Given the description of an element on the screen output the (x, y) to click on. 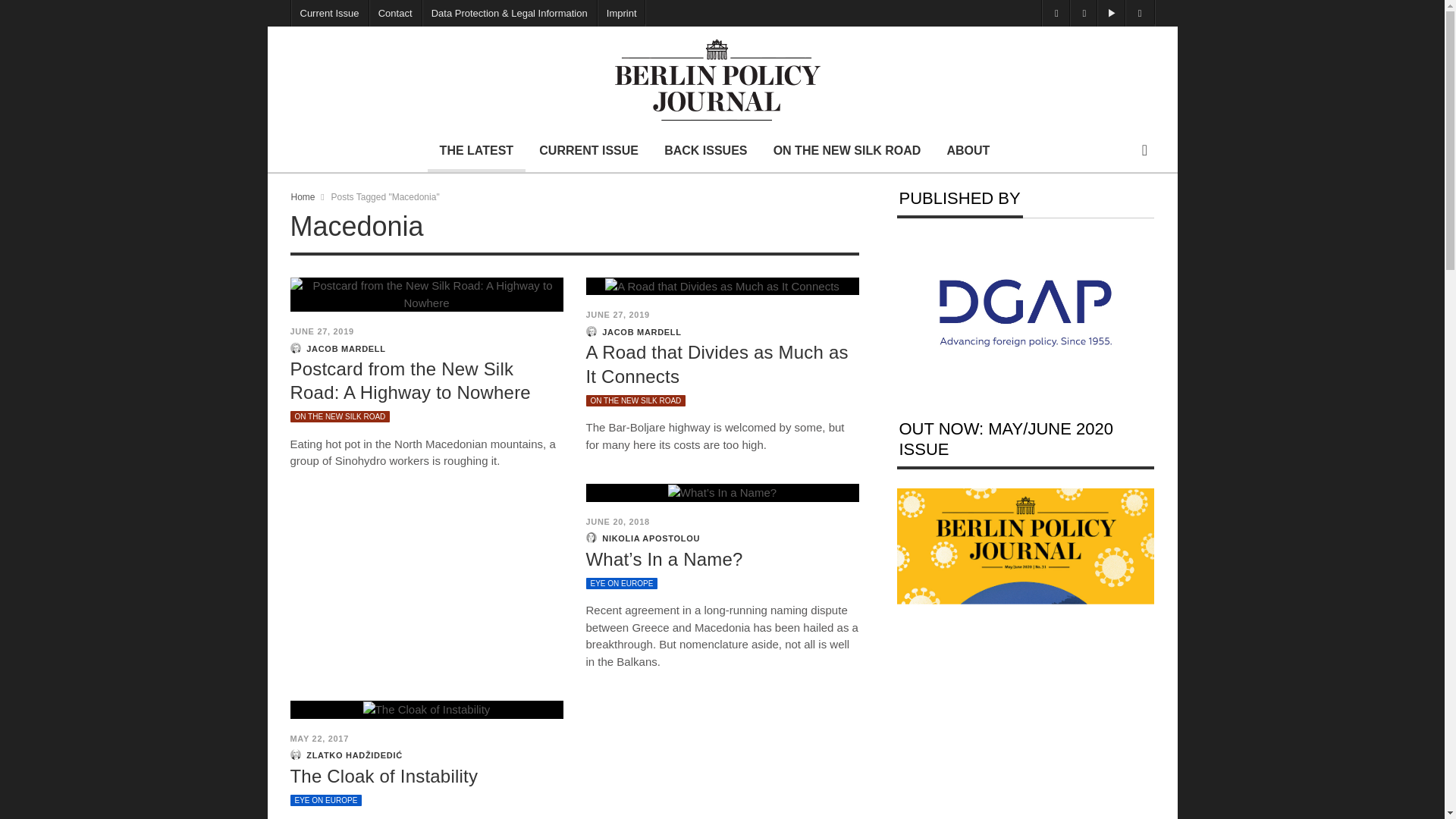
Imprint (621, 13)
THE LATEST (476, 150)
BACK ISSUES (705, 150)
Jacob Mardell (590, 330)
The Cloak of Instability (383, 775)
On the New Silk Road (635, 400)
NIKOLIA APOSTOLOU (651, 537)
ON THE NEW SILK ROAD (635, 400)
Nikolia Apostolou (590, 537)
Home (303, 196)
